Given the description of an element on the screen output the (x, y) to click on. 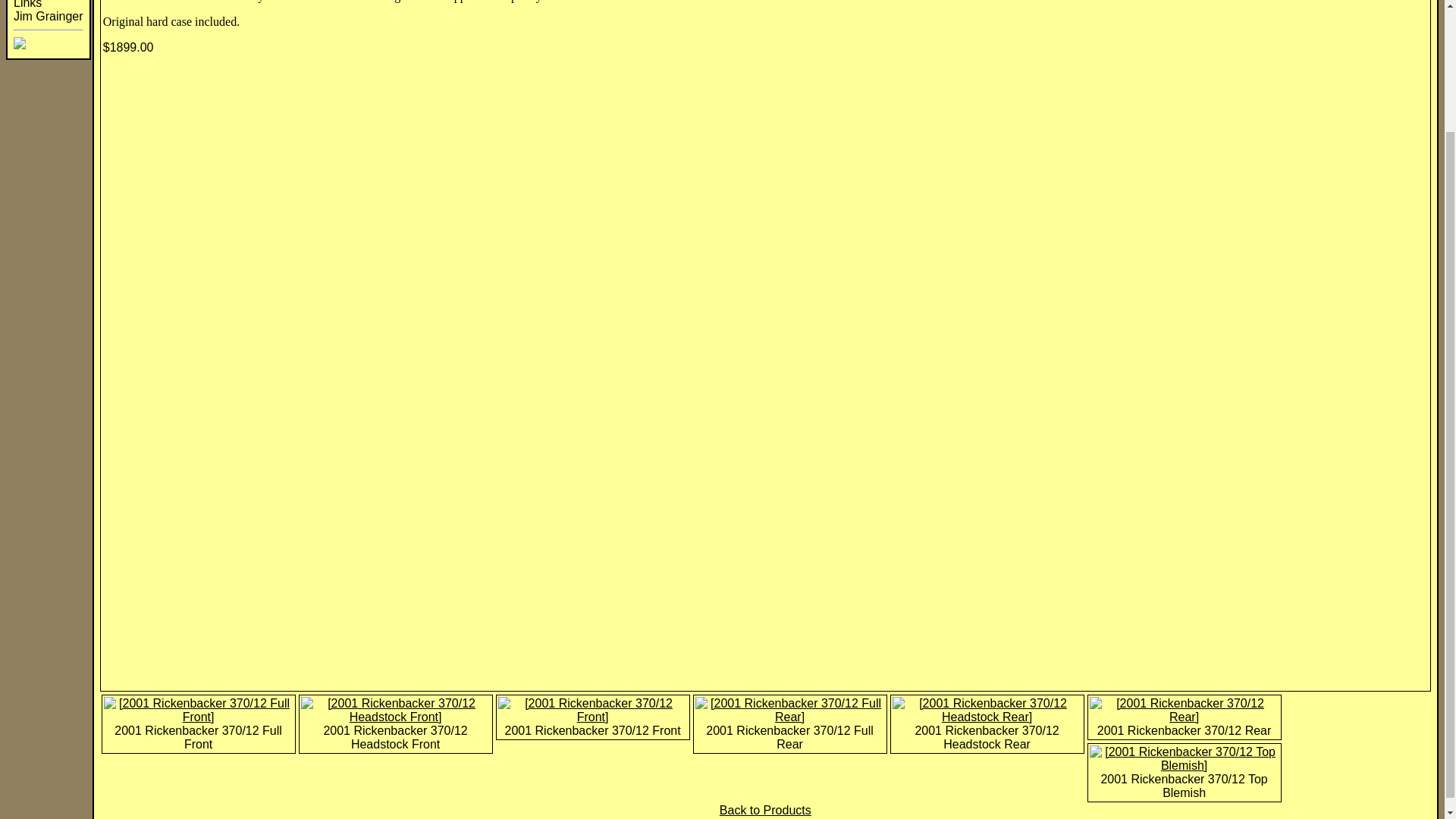
Jim Grainger (47, 15)
Links (27, 4)
Back to Products (764, 809)
